Given the description of an element on the screen output the (x, y) to click on. 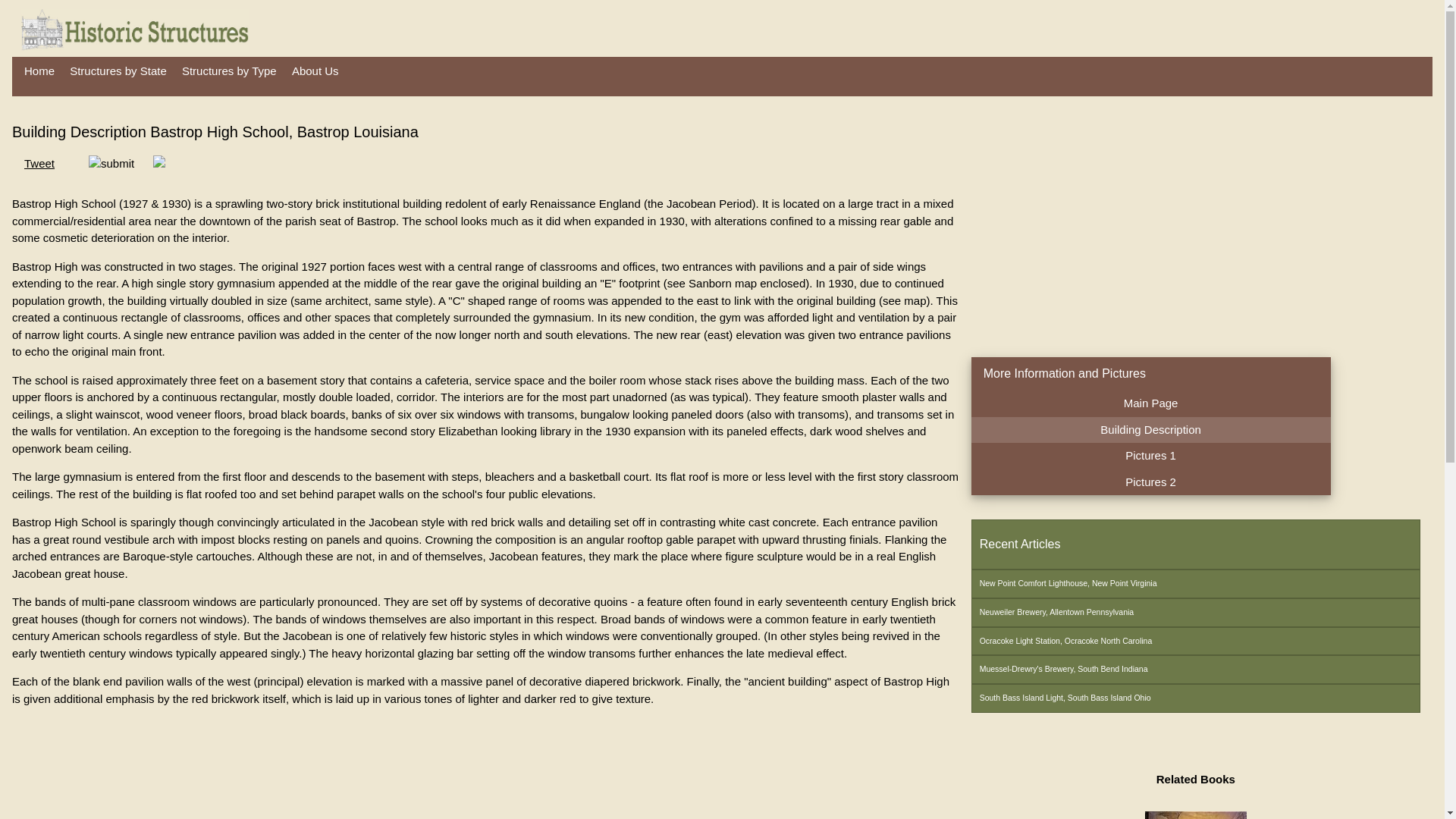
Muessel-Drewry's Brewery, South Bend Indiana (1196, 669)
Structures by State (118, 70)
Ocracoke Light Station, Ocracoke North Carolina (1196, 641)
Neuweiler Brewery, Allentown Pennsylvania (1196, 612)
Home (39, 71)
New Point Comfort Lighthouse, New Point Virginia (1196, 583)
South Bass Island Light, South Bass Island Ohio (1196, 697)
Advertisement (1098, 226)
